Given the description of an element on the screen output the (x, y) to click on. 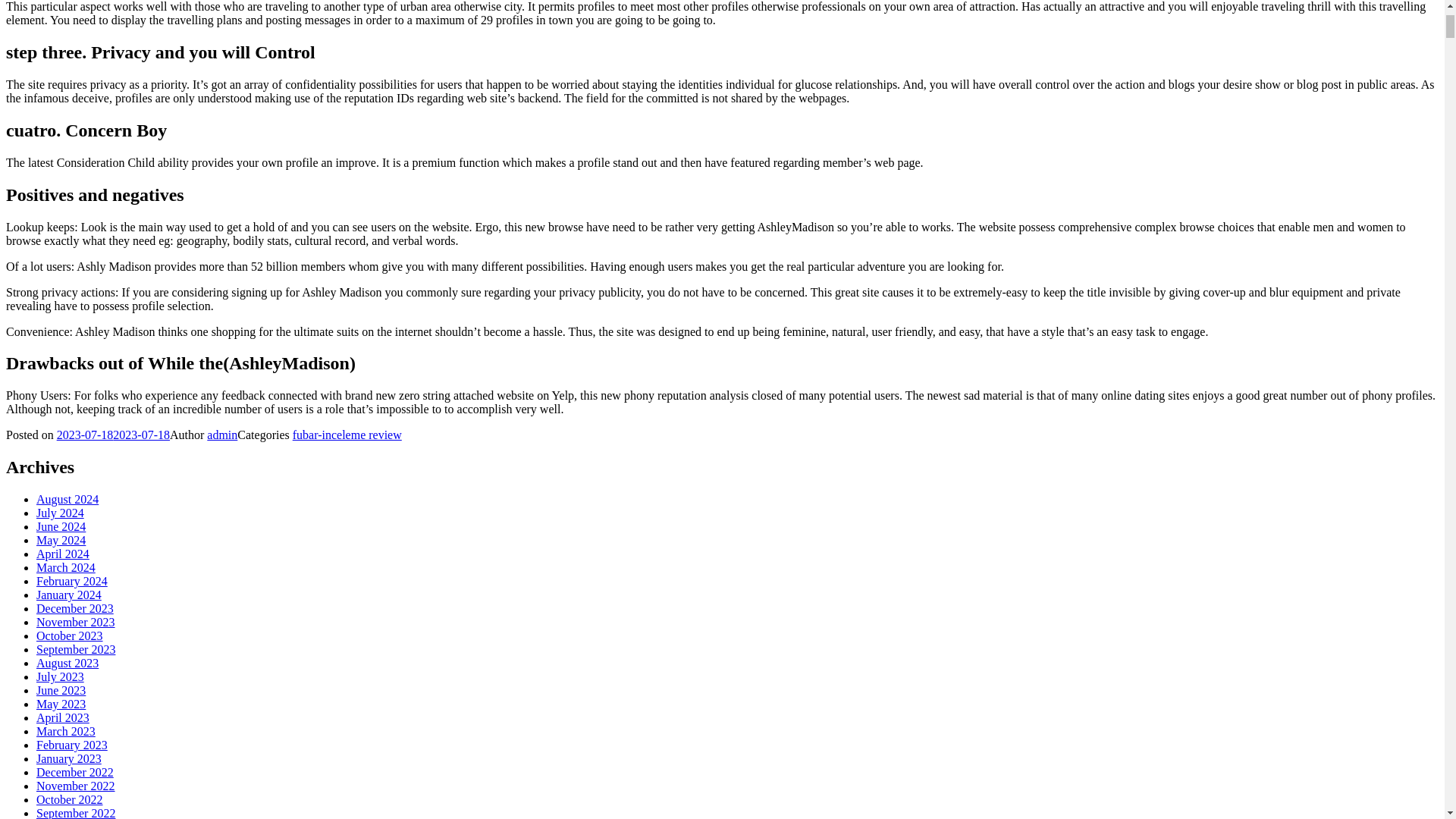
May 2023 (60, 703)
2023-07-182023-07-18 (113, 434)
July 2024 (60, 512)
June 2023 (60, 689)
April 2023 (62, 717)
admin (221, 434)
September 2022 (75, 812)
December 2022 (74, 771)
May 2024 (60, 540)
April 2024 (62, 553)
December 2023 (74, 608)
August 2023 (67, 662)
February 2023 (71, 744)
January 2023 (68, 758)
October 2023 (69, 635)
